Given the description of an element on the screen output the (x, y) to click on. 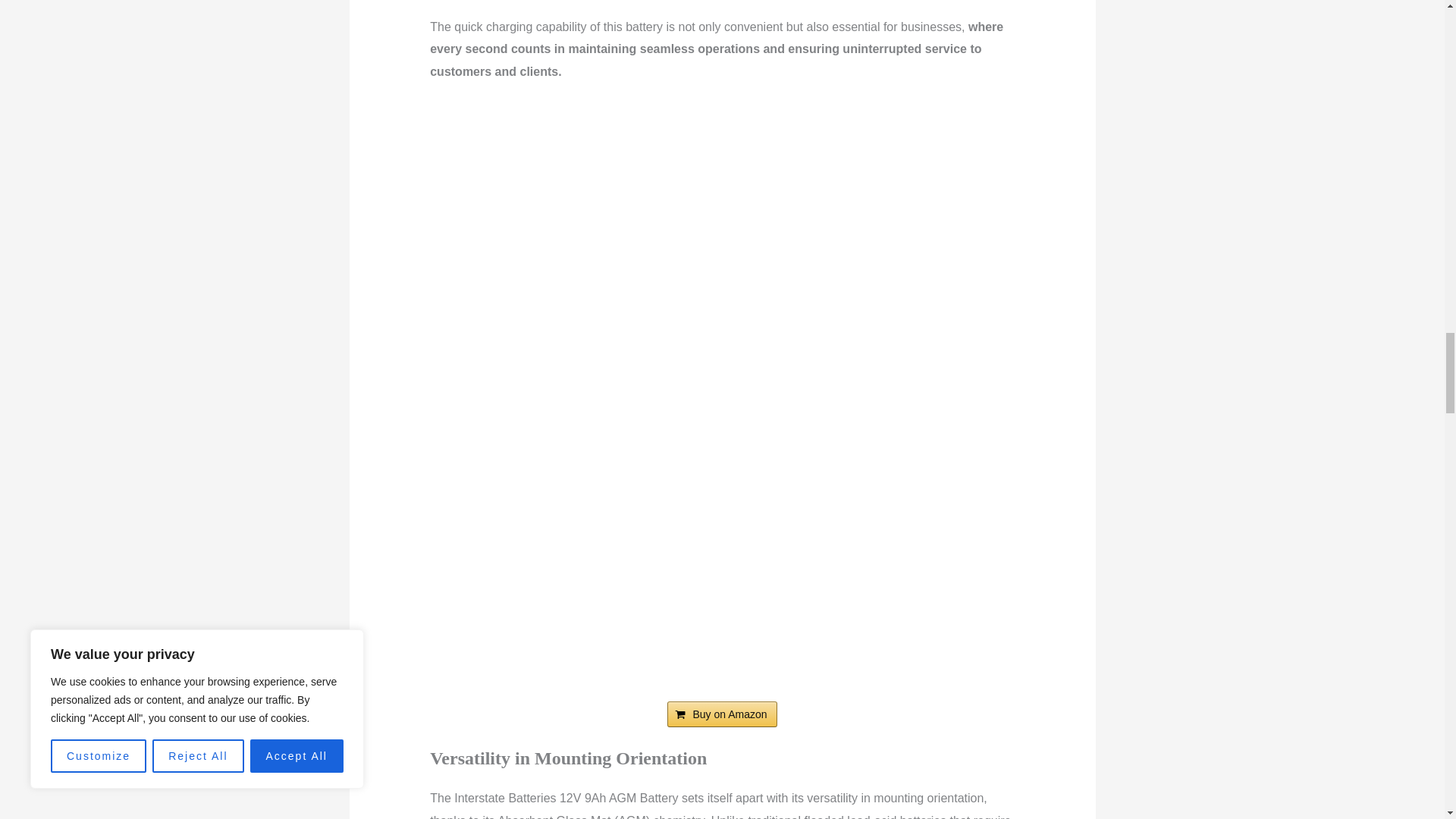
Buy on Amazon (721, 714)
